Given the description of an element on the screen output the (x, y) to click on. 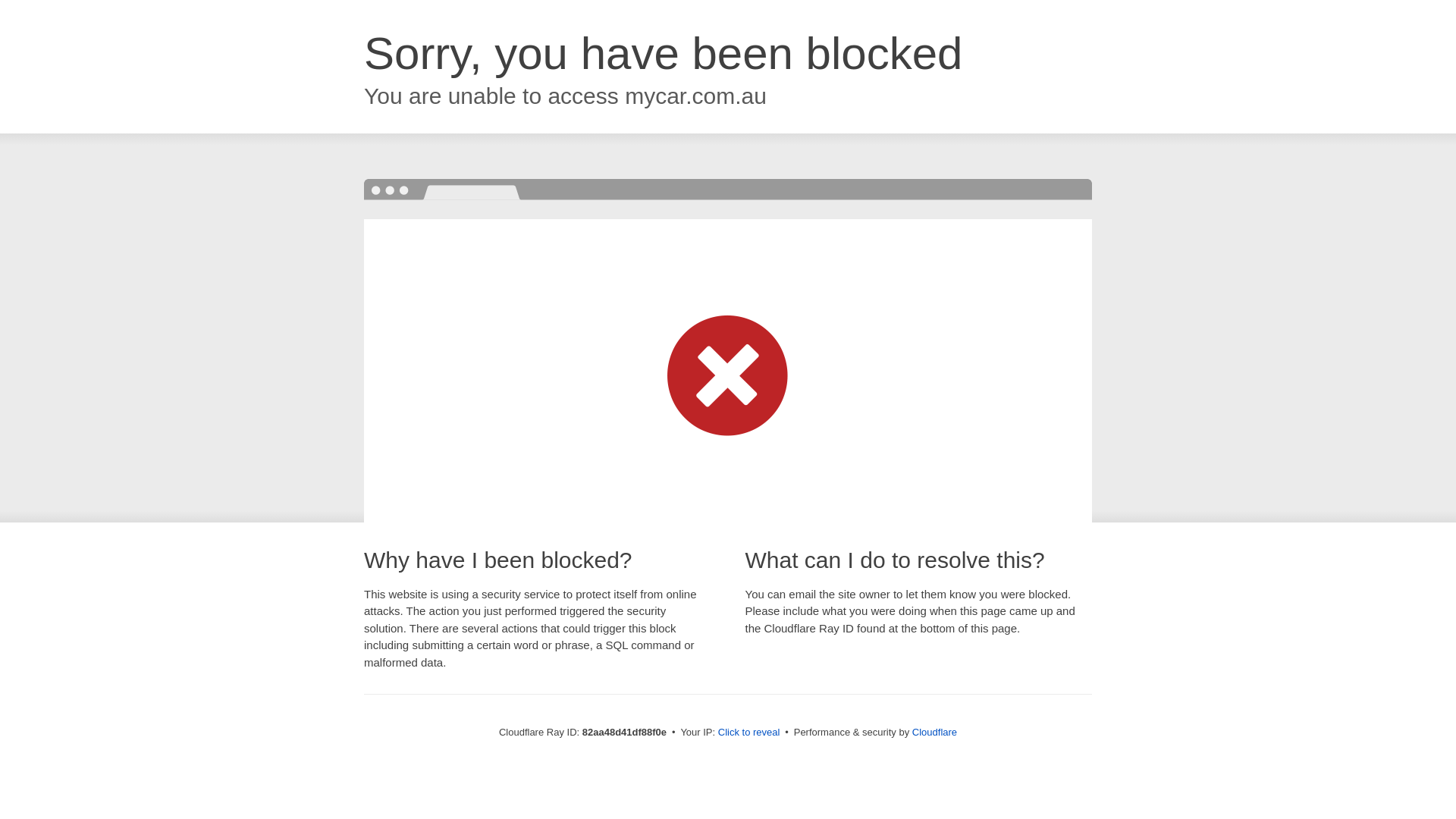
Cloudflare Element type: text (934, 731)
Click to reveal Element type: text (749, 732)
